Given the description of an element on the screen output the (x, y) to click on. 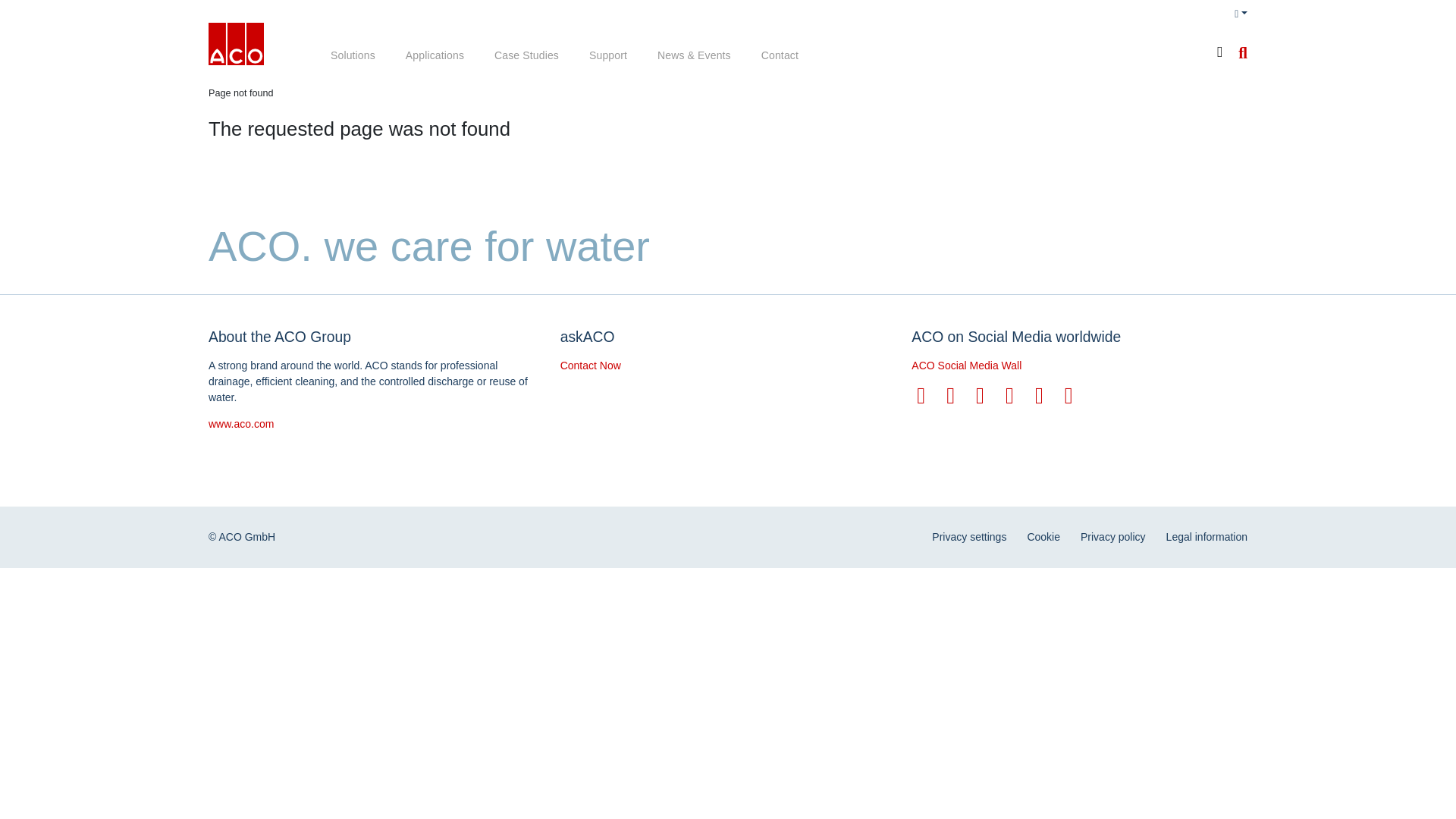
Applications (434, 55)
Solutions (352, 55)
Solutions (352, 55)
Case Studies (526, 55)
Contact (780, 55)
Support (607, 55)
Applications (434, 55)
